Given the description of an element on the screen output the (x, y) to click on. 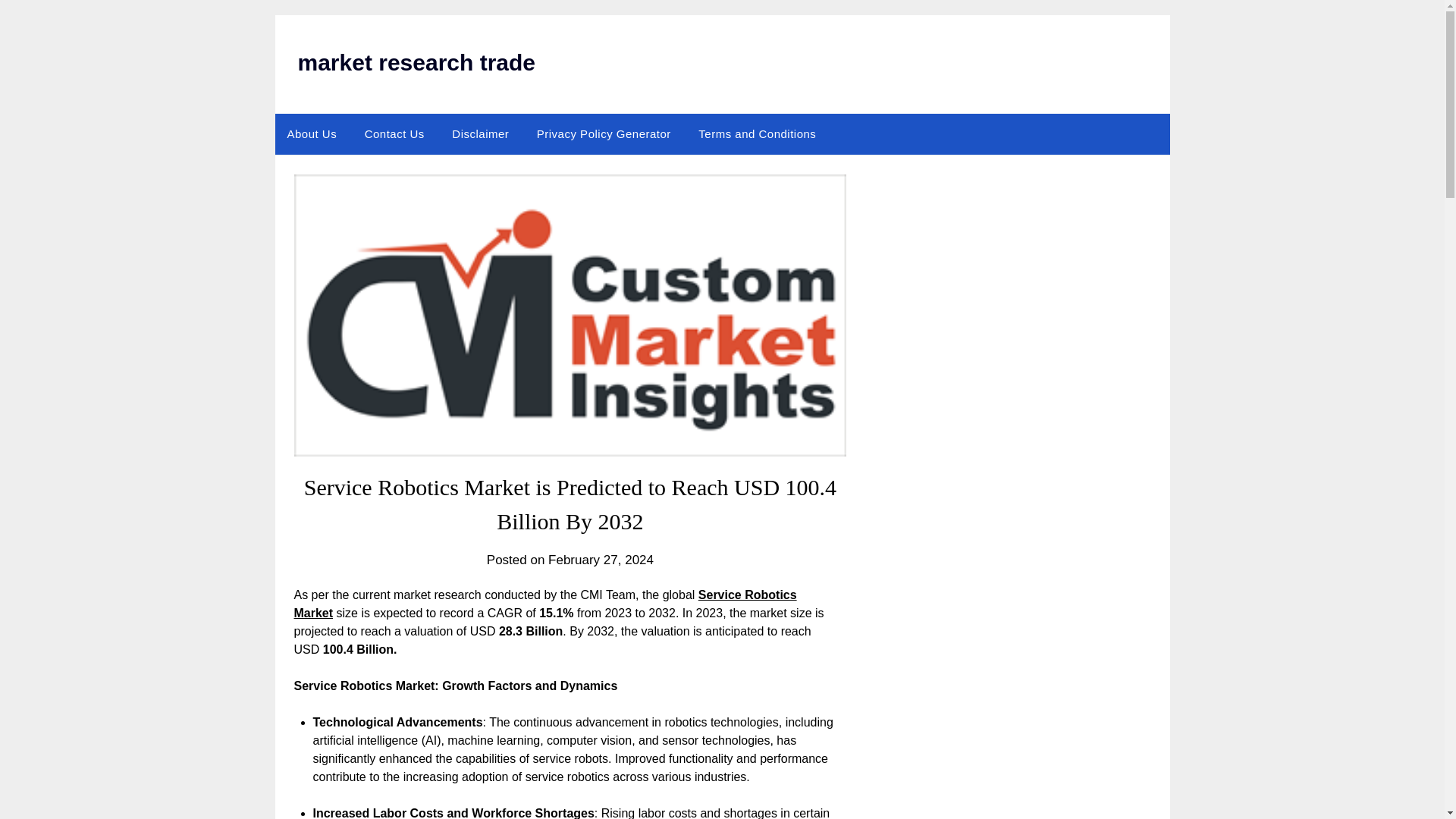
Terms and Conditions (756, 133)
market research trade (416, 62)
About Us (312, 133)
Disclaimer (480, 133)
Privacy Policy Generator (603, 133)
Contact Us (394, 133)
Service Robotics Market (545, 603)
